Given the description of an element on the screen output the (x, y) to click on. 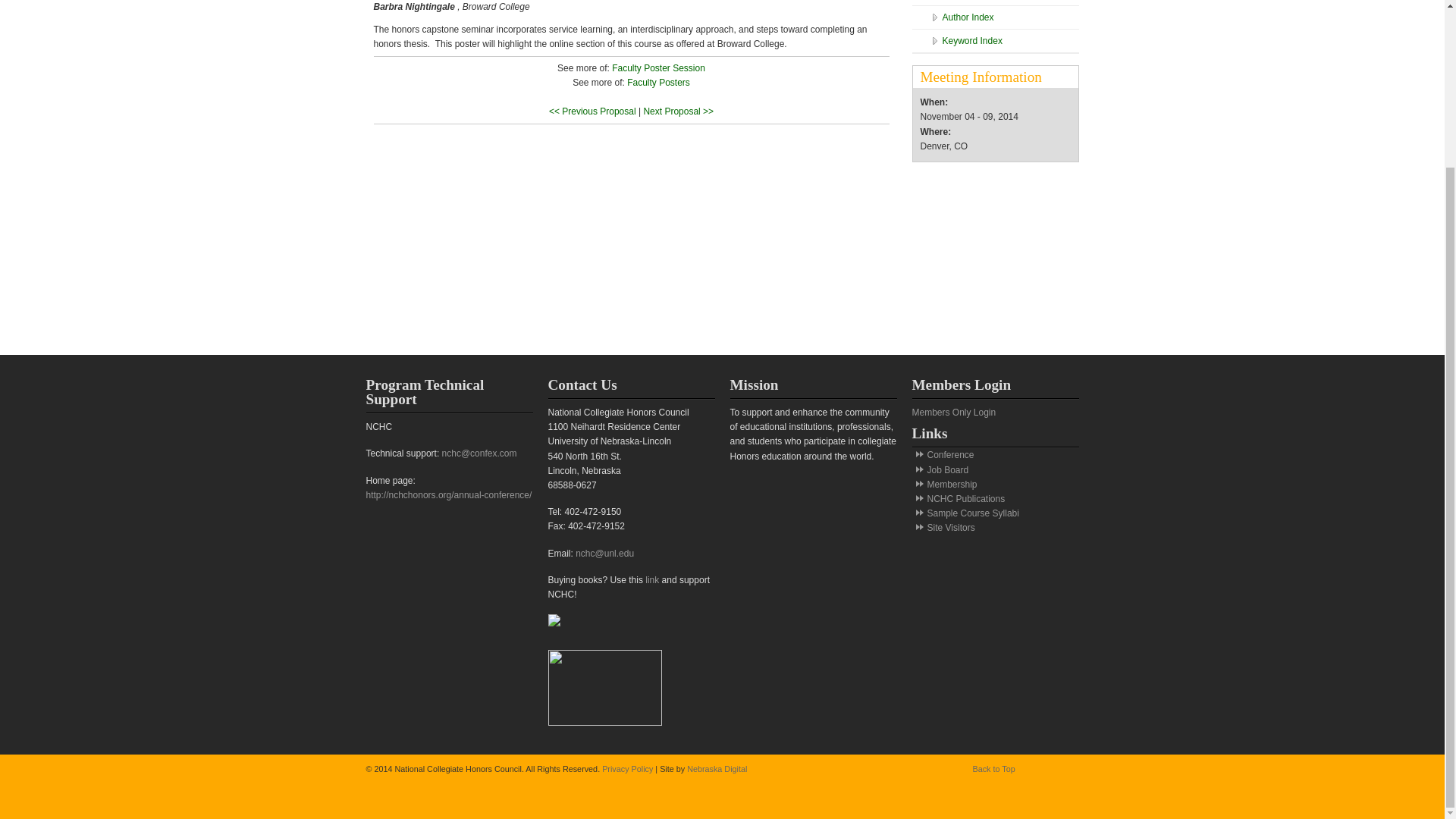
Faculty Poster Session (657, 68)
Keyword Index (1002, 40)
Membership (951, 484)
NCHC Publications (965, 498)
Privacy Policy (627, 768)
Start (994, 2)
Site Visitors (950, 527)
Conference (950, 454)
link (653, 579)
Golden Key Honour Society (986, 264)
